Given the description of an element on the screen output the (x, y) to click on. 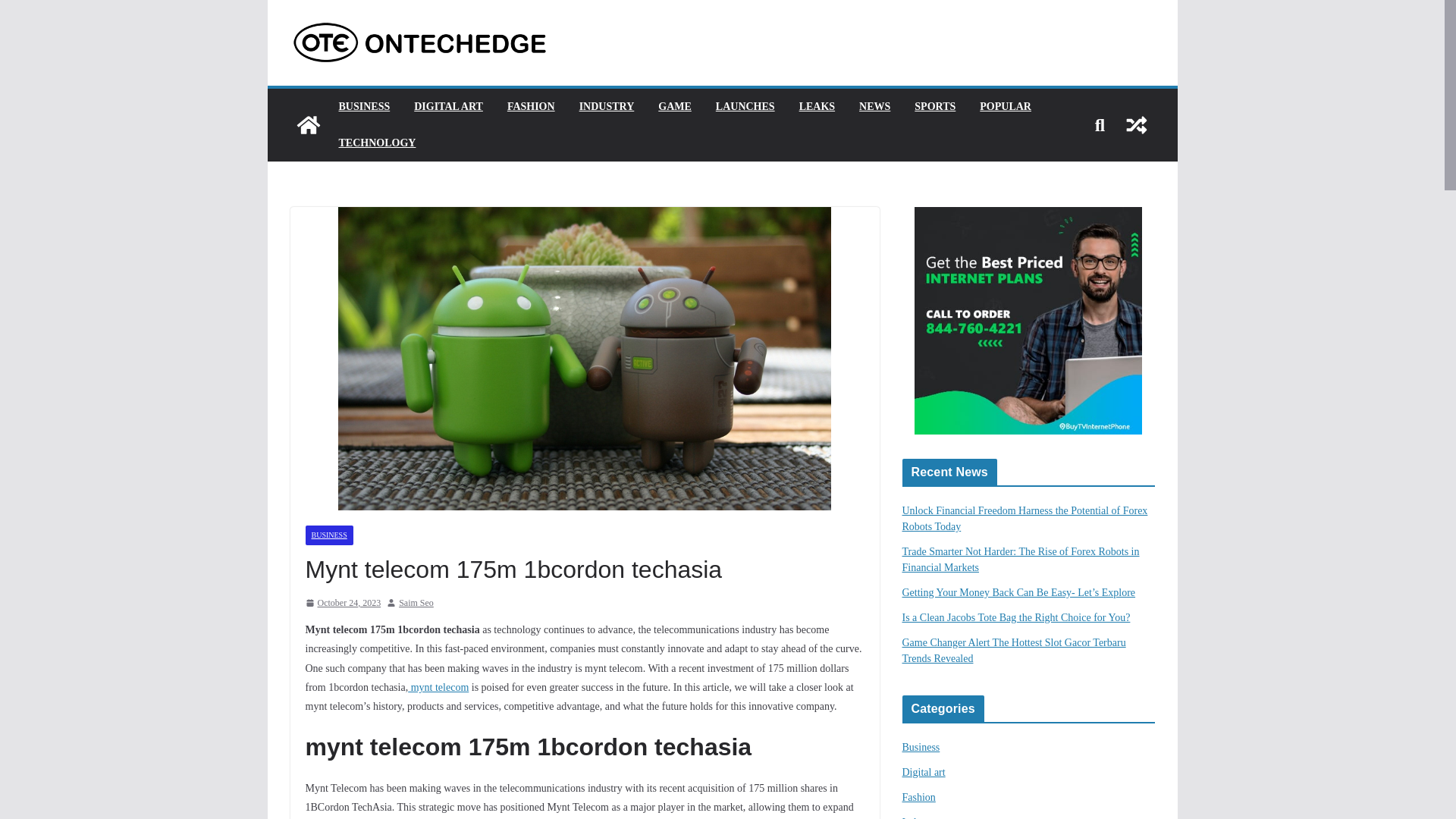
INDUSTRY (606, 106)
BUSINESS (328, 535)
LAUNCHES (745, 106)
October 24, 2023 (342, 603)
DIGITAL ART (448, 106)
Is a Clean Jacobs Tote Bag the Right Choice for You? (1016, 617)
Digital art (923, 772)
FASHION (530, 106)
BUSINESS (363, 106)
7:44 am (342, 603)
TECHNOLOGY (375, 142)
LEAKS (816, 106)
